Given the description of an element on the screen output the (x, y) to click on. 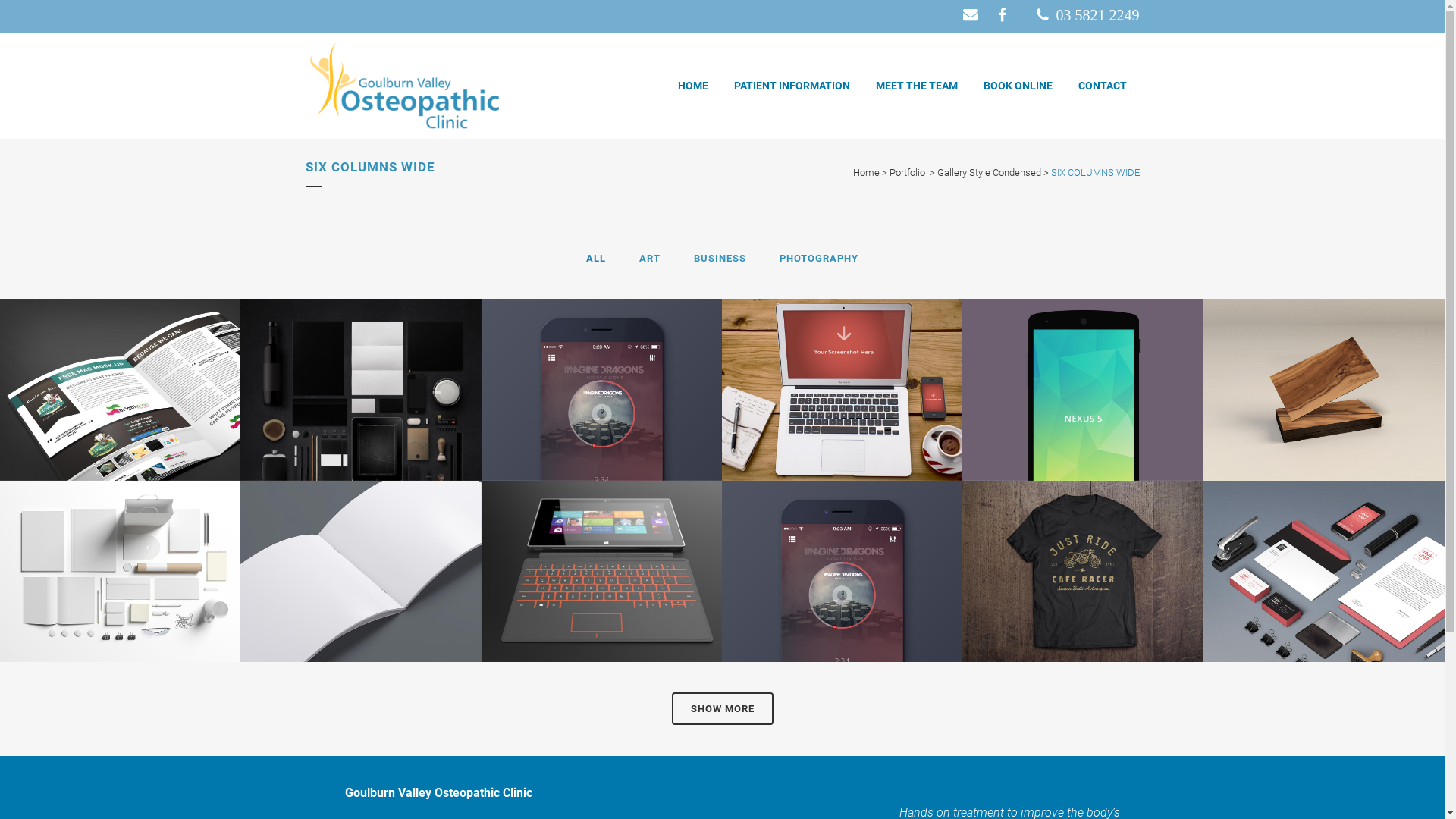
Home Element type: text (865, 172)
SHOW MORE Element type: text (722, 708)
  Element type: text (972, 14)
Gallery Style Condensed Element type: text (989, 172)
BOOK ONLINE Element type: text (1017, 85)
CONTACT Element type: text (1101, 85)
Portfolio Element type: text (906, 172)
MEET THE TEAM Element type: text (916, 85)
HOME Element type: text (692, 85)
PATIENT INFORMATION Element type: text (791, 85)
  03 5821 2249 Element type: text (1087, 15)
